Given the description of an element on the screen output the (x, y) to click on. 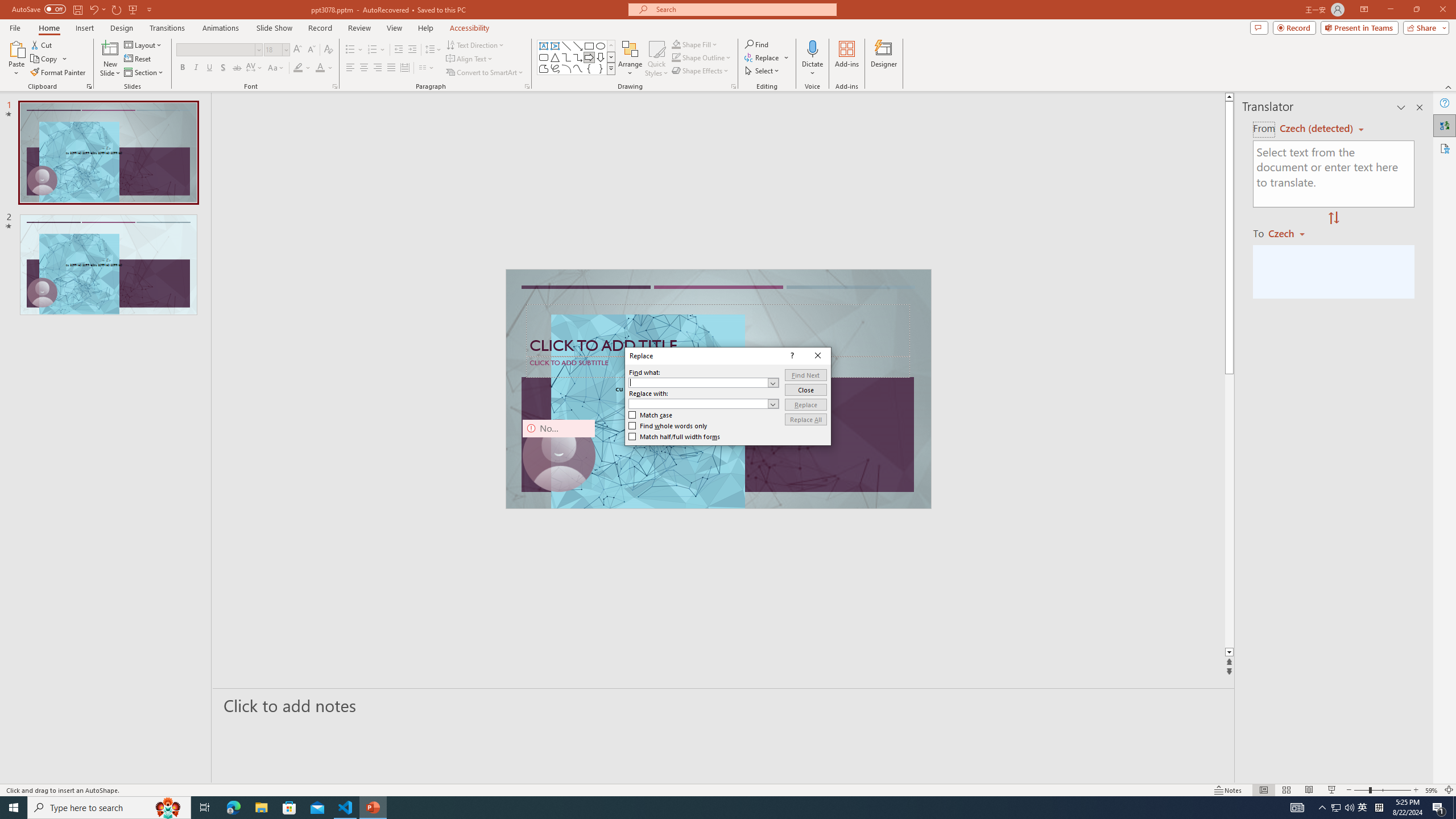
Microsoft Store (289, 807)
Format Painter (58, 72)
Text Highlight Color Yellow (297, 67)
Shadow (223, 67)
